Given the description of an element on the screen output the (x, y) to click on. 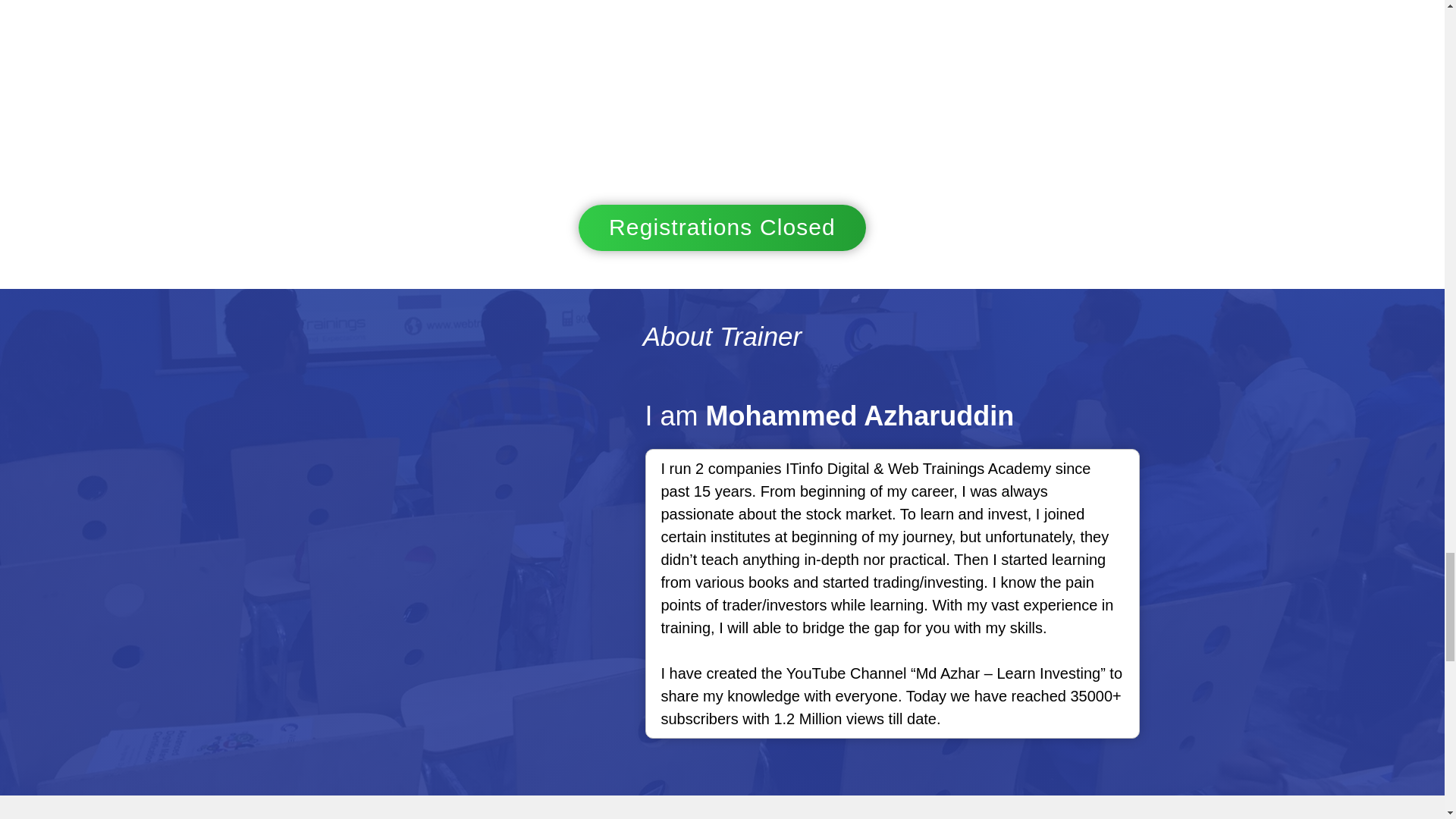
Registrations Closed (722, 227)
